Given the description of an element on the screen output the (x, y) to click on. 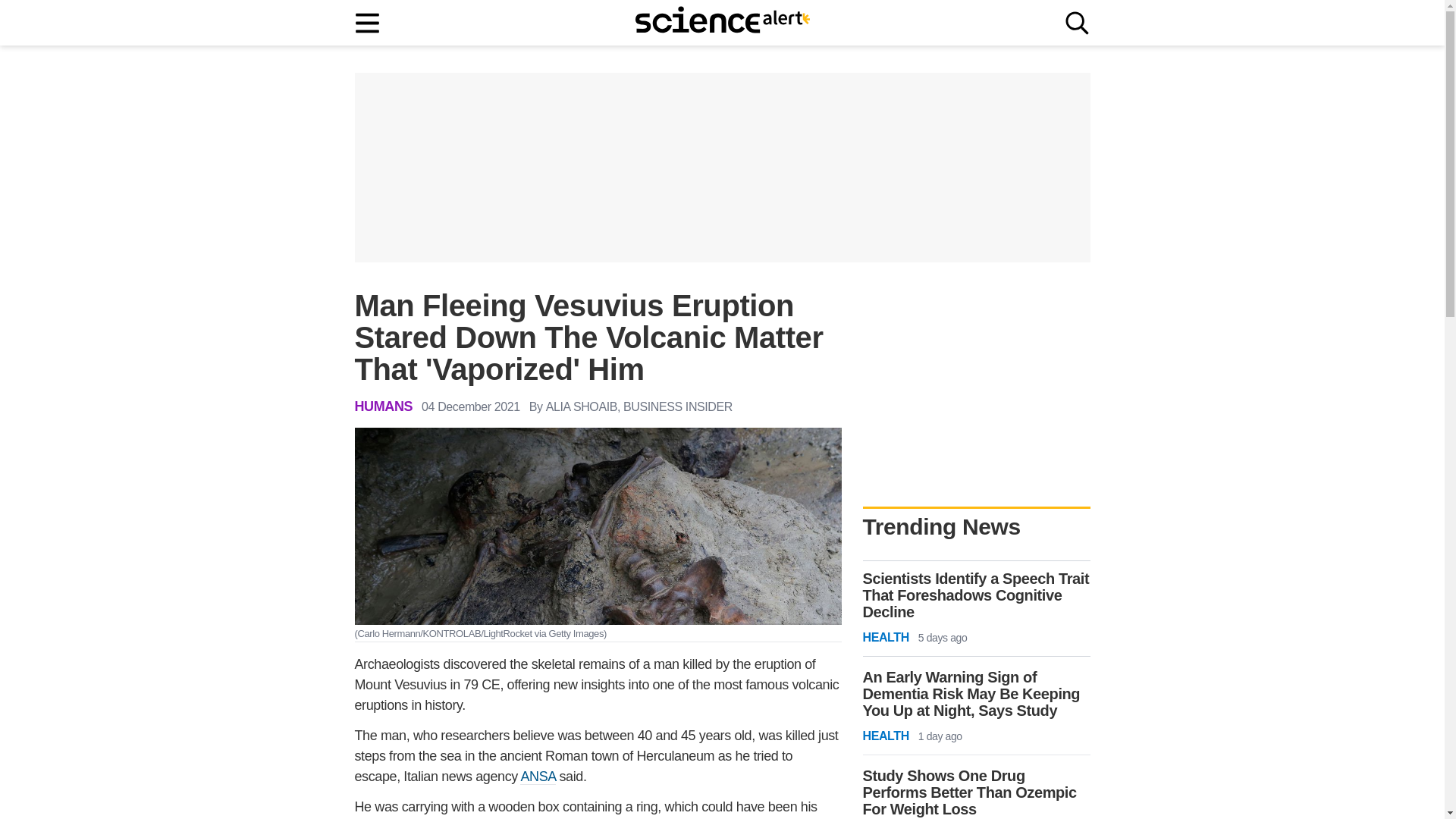
HUMANS (384, 406)
ANSA (536, 776)
